Given the description of an element on the screen output the (x, y) to click on. 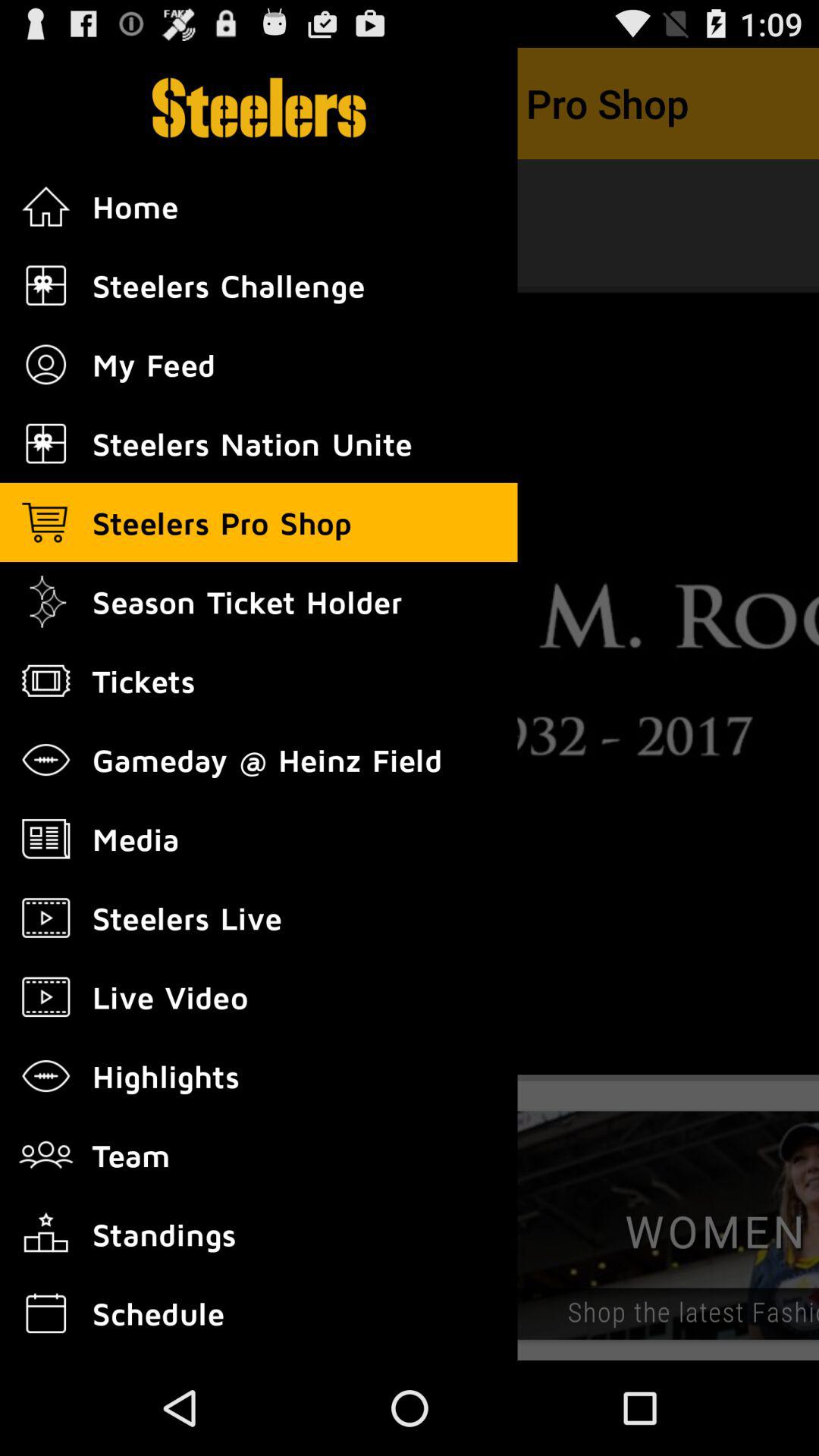
click the standing icon (45, 1234)
select the icon of season ticket holder (45, 601)
click the steelers nation unite icon (45, 444)
tap on the icon which is left to the media (45, 838)
click on the icon which is beside steelers live (45, 918)
